Given the description of an element on the screen output the (x, y) to click on. 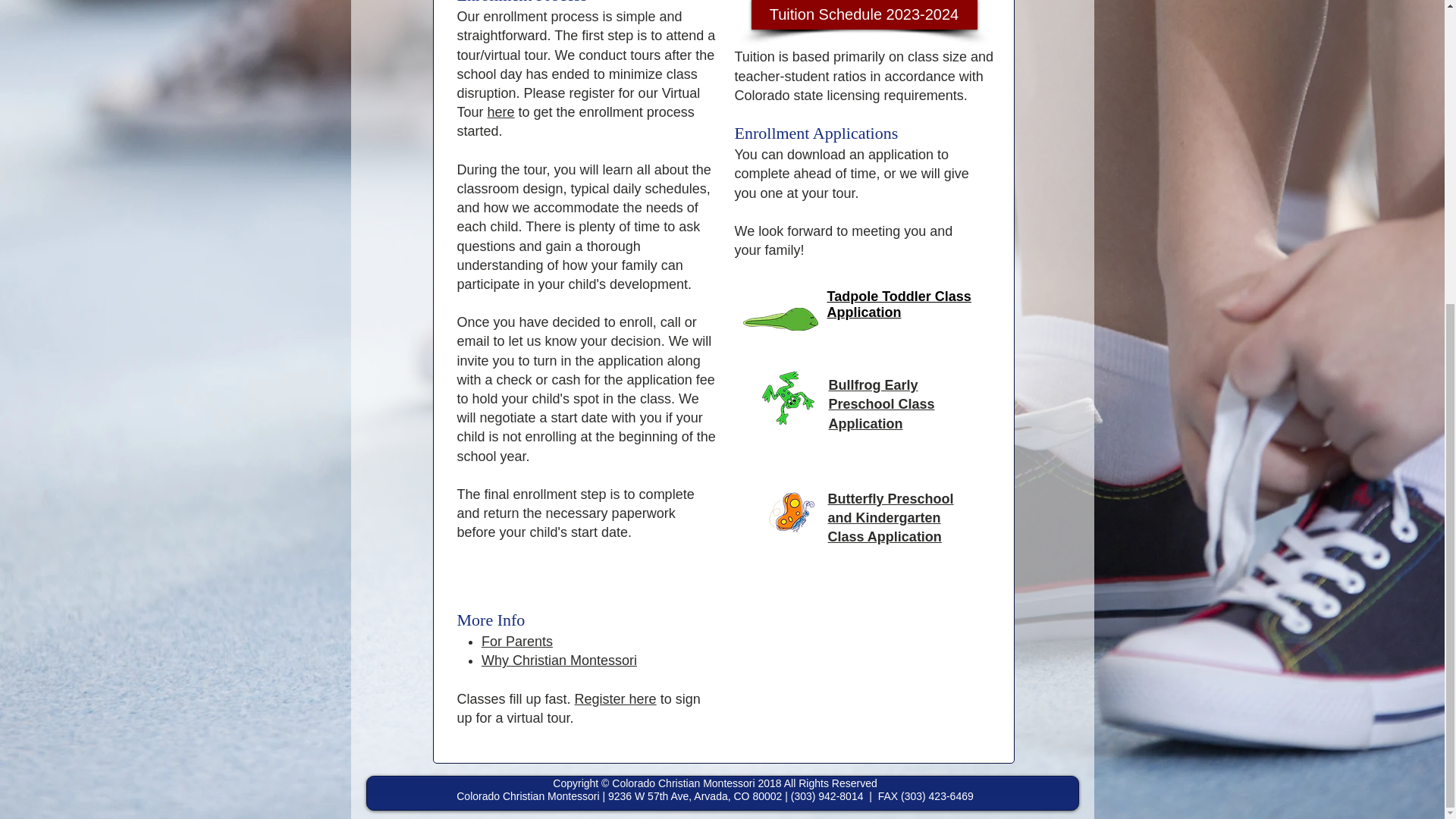
Butterfly Preschool and Kindergarten Class Application (890, 517)
Why Christian Montessori (559, 660)
here (501, 111)
For Parents (517, 641)
Bullfrog Early Preschool Class Application (881, 403)
Tuition Schedule 2023-2024 (863, 14)
